Given the description of an element on the screen output the (x, y) to click on. 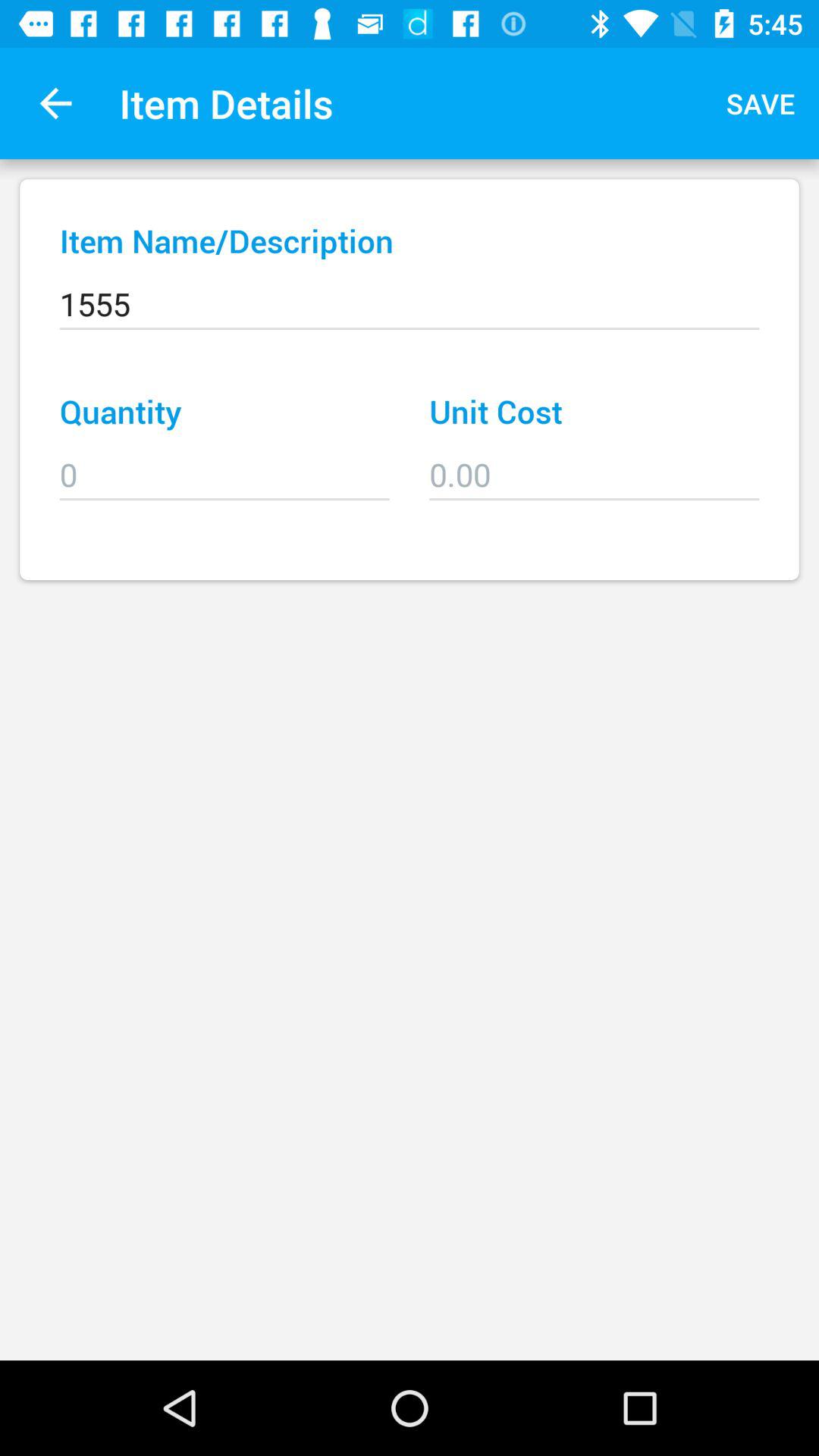
swipe to 1555 item (409, 293)
